Given the description of an element on the screen output the (x, y) to click on. 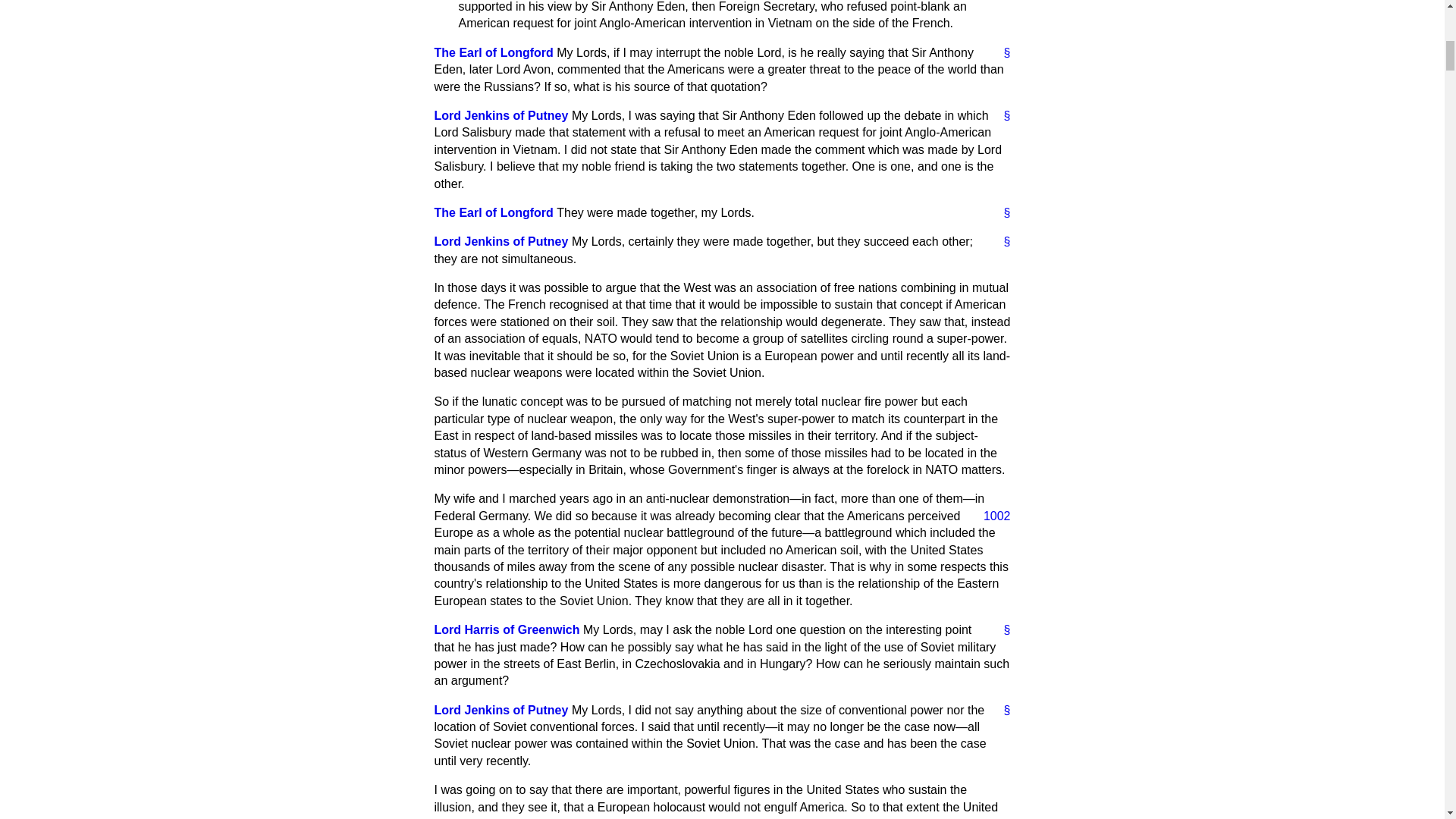
The Earl of Longford (493, 51)
Mr Francis Pakenham (493, 212)
Link to this speech by Mr Francis Pakenham (1000, 212)
1002 (990, 515)
Link to this speech by Mr Francis Pakenham (1000, 53)
The Earl of Longford (493, 212)
Lord Jenkins of Putney (500, 241)
Mr Hugh Jenkins (500, 241)
Link to this speech by Mr Hugh Jenkins (1000, 115)
Lord Harris of Greenwich (506, 629)
Link to this speech by Mr Hugh Jenkins (1000, 241)
Mr Francis Pakenham (493, 51)
Lord Jenkins of Putney (500, 709)
Lord Jenkins of Putney (500, 115)
Mr Hugh Jenkins (500, 115)
